Given the description of an element on the screen output the (x, y) to click on. 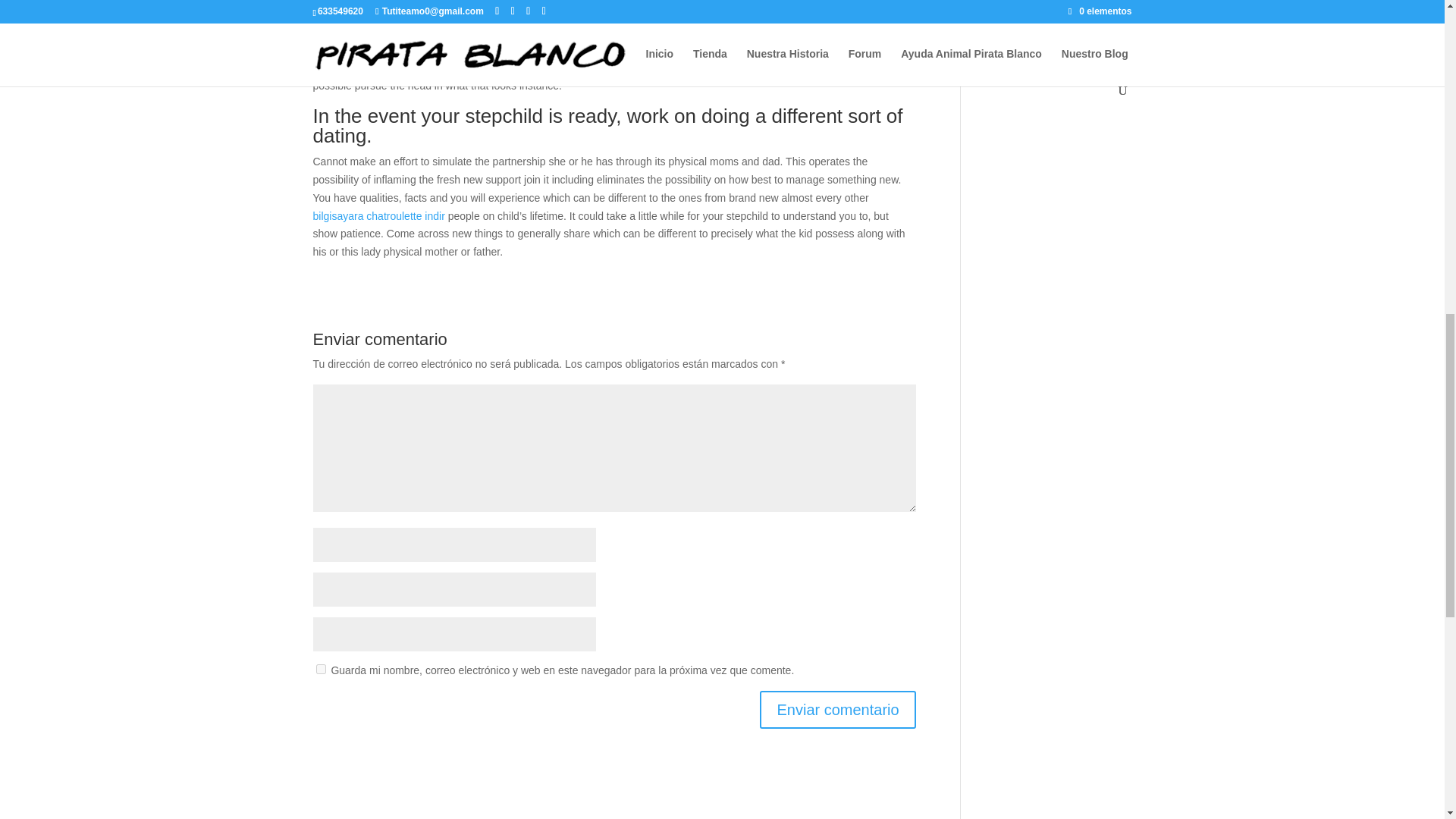
Enviar comentario (837, 709)
yes (319, 669)
Enviar comentario (837, 709)
bilgisayara chatroulette indir (378, 215)
